Given the description of an element on the screen output the (x, y) to click on. 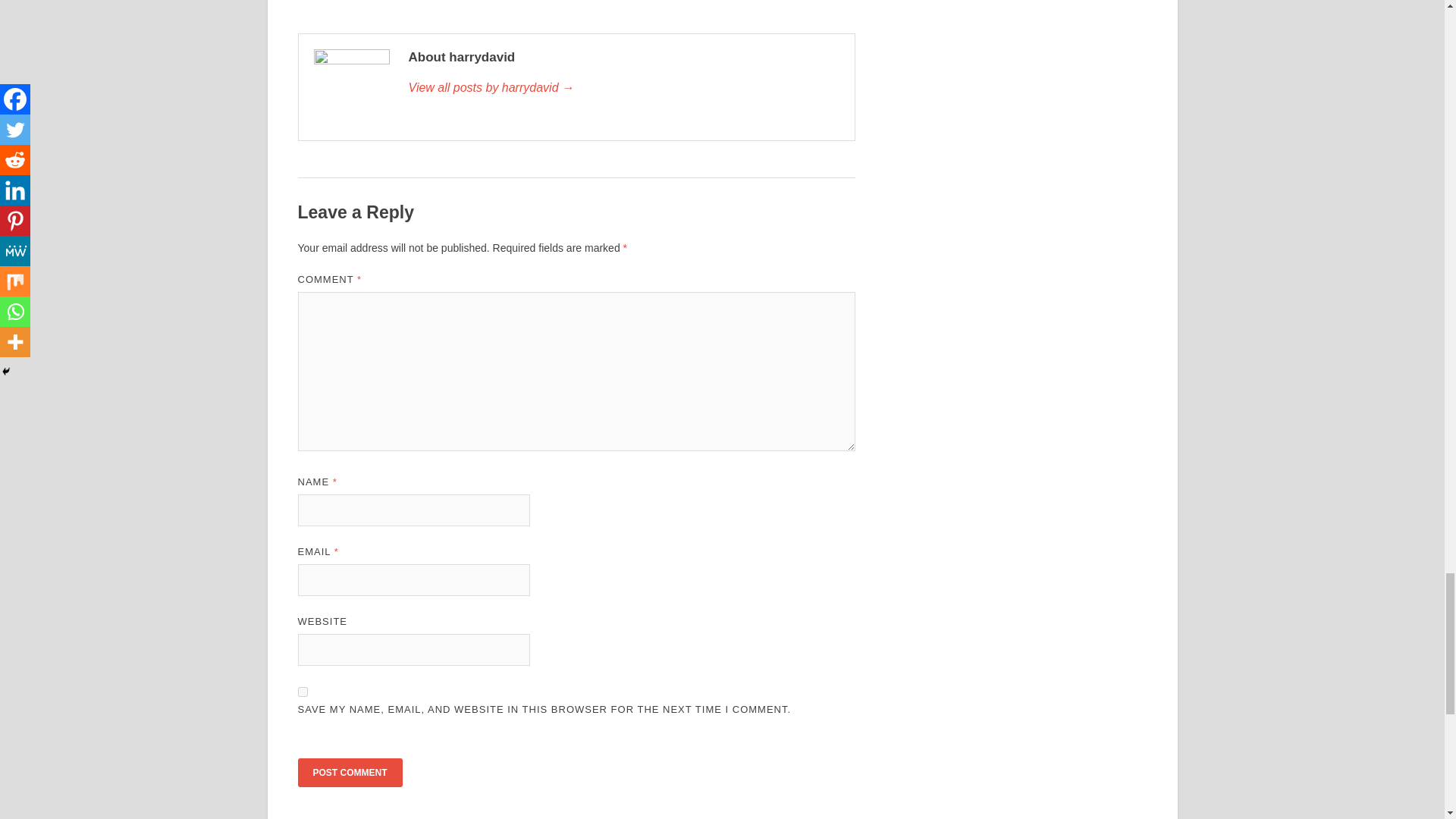
yes (302, 691)
Post Comment (349, 772)
